Given the description of an element on the screen output the (x, y) to click on. 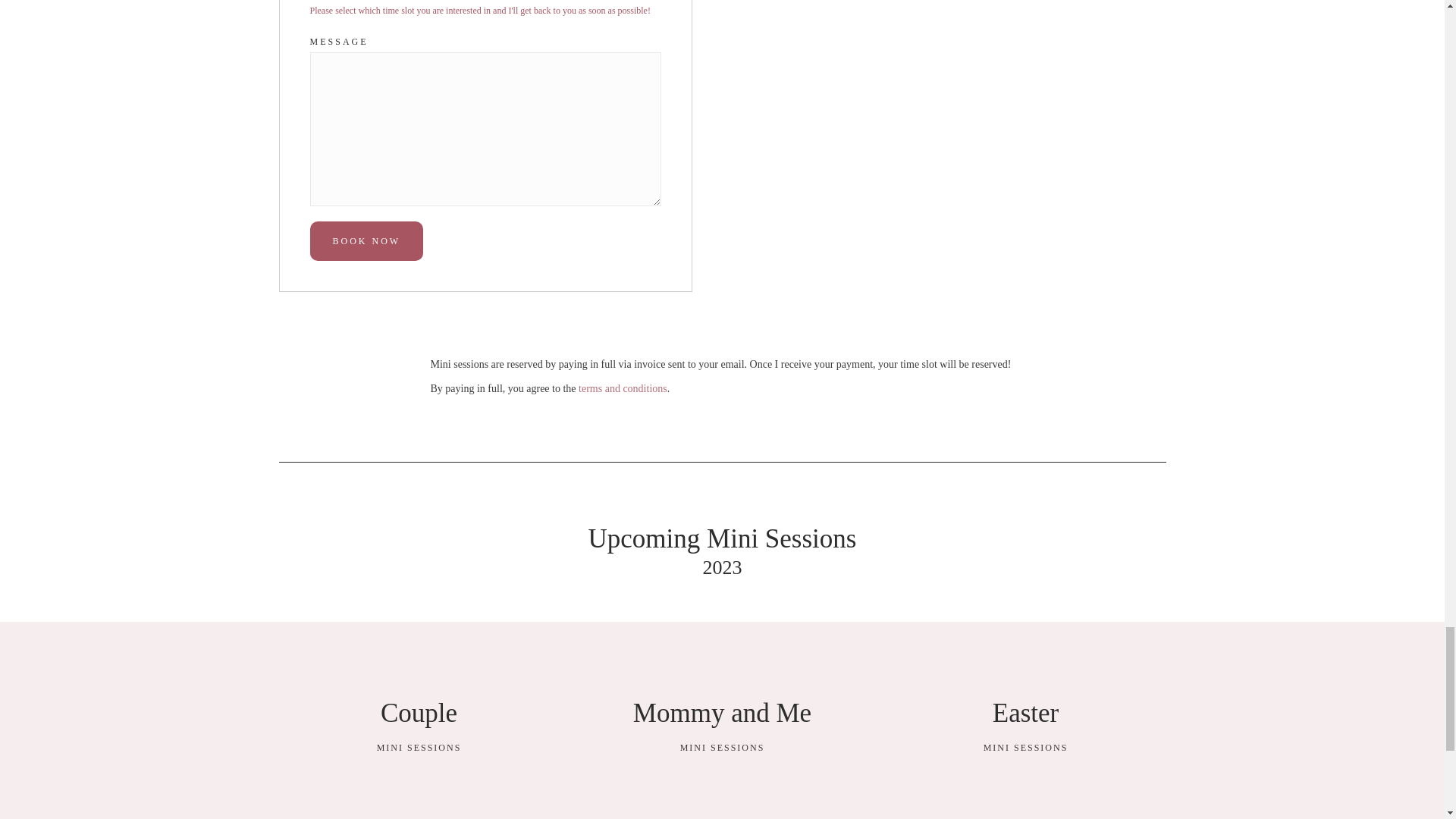
BOOK NOW (419, 720)
terms and conditions (722, 720)
